Given the description of an element on the screen output the (x, y) to click on. 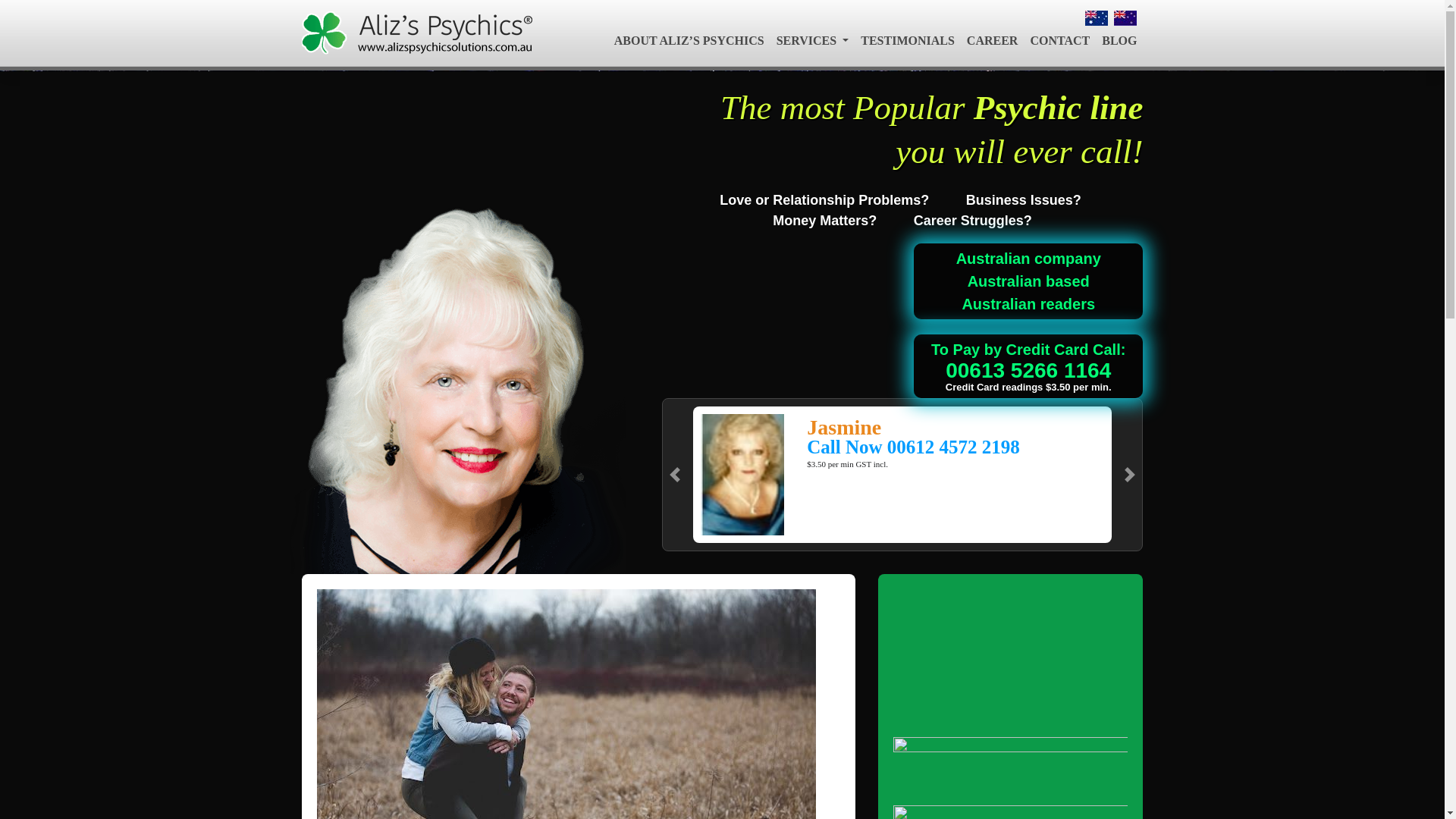
CONTACT (1059, 40)
Services (813, 40)
Blog (1119, 40)
BLOG (1119, 40)
CAREER (992, 40)
SERVICES (813, 40)
TESTIMONIALS (907, 40)
Contact (1059, 40)
Career (992, 40)
Testimonials (907, 40)
